Given the description of an element on the screen output the (x, y) to click on. 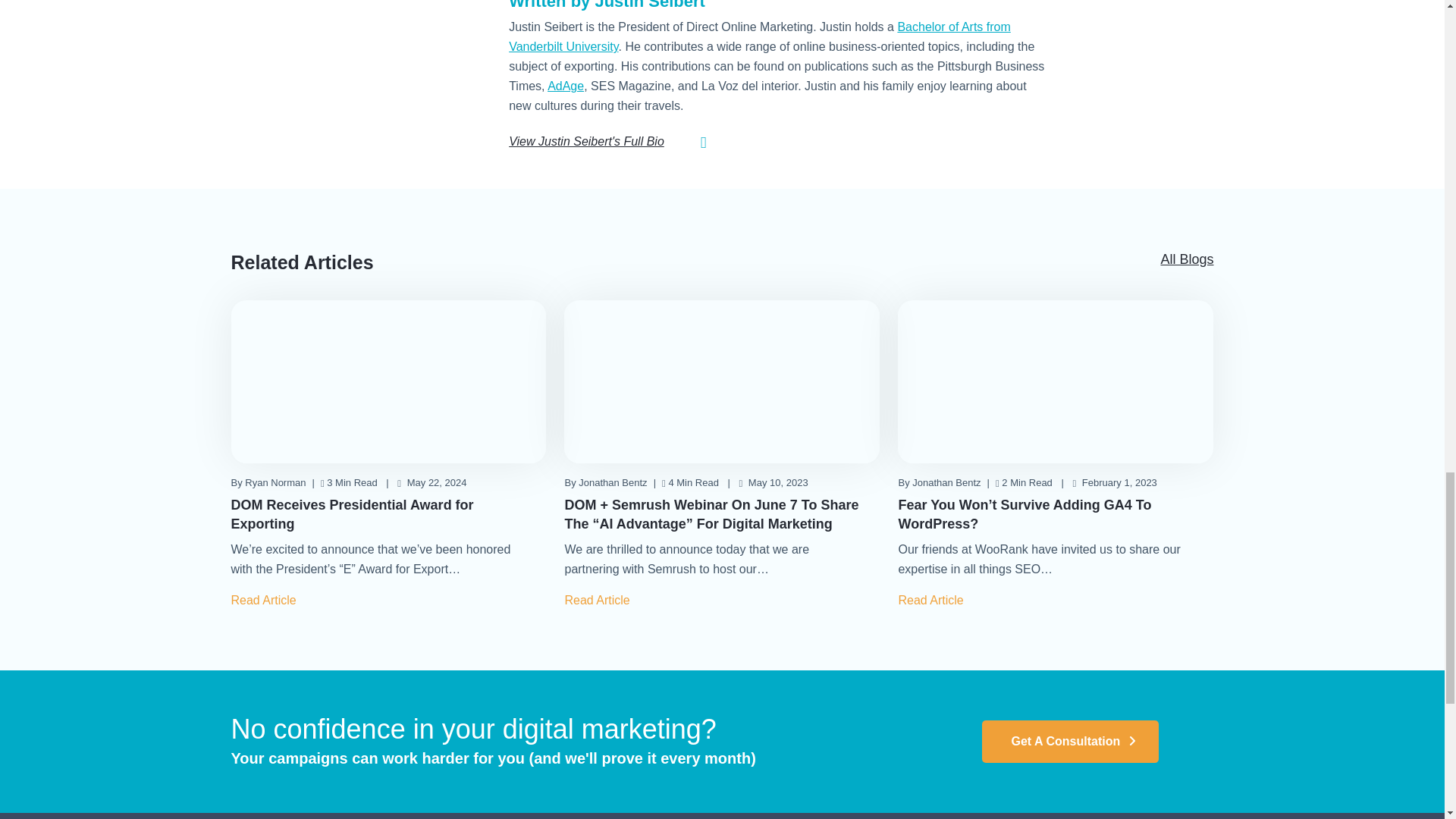
AdAge (565, 85)
View Justin Seibert's Full Bio (585, 141)
Bachelor of Arts from Vanderbilt University (759, 36)
